Given the description of an element on the screen output the (x, y) to click on. 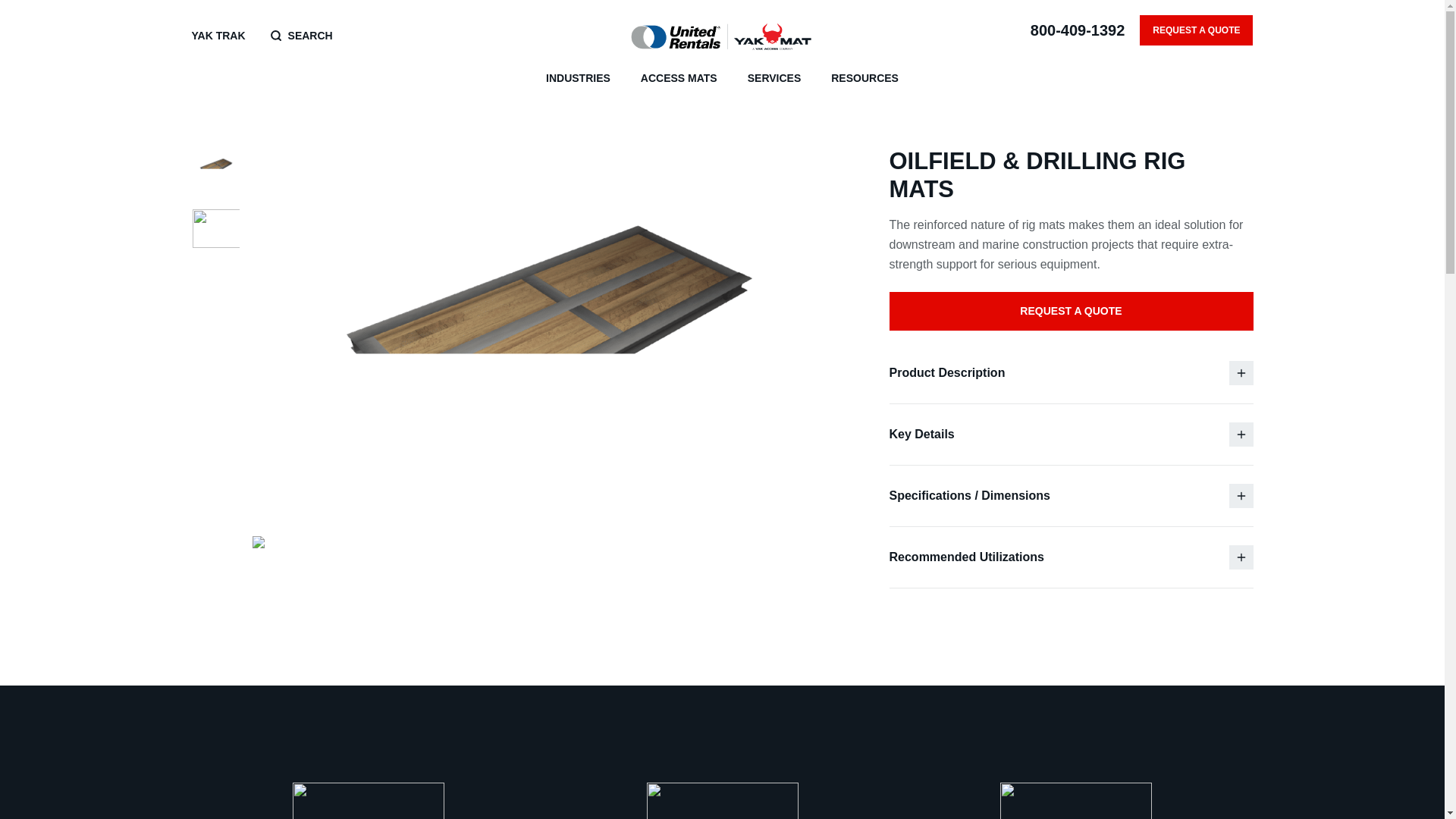
RESOURCES (864, 78)
SERVICES (775, 78)
ACCESS MATS (678, 78)
YAK TRAK (217, 35)
INDUSTRIES (578, 78)
